Given the description of an element on the screen output the (x, y) to click on. 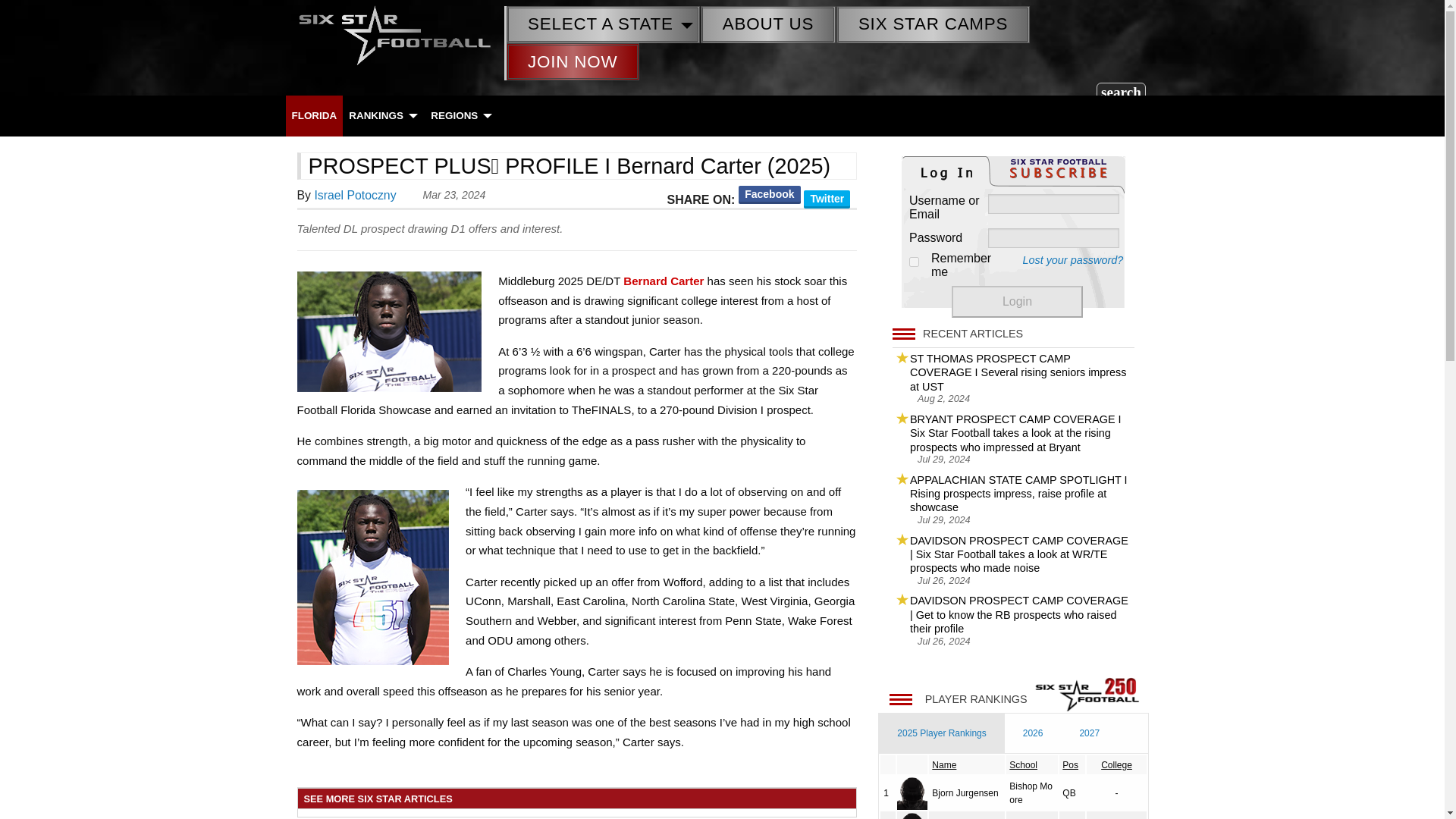
1 (913, 261)
Six Star Football - High School Football Prospects (395, 33)
ABOUT US (767, 24)
RANKINGS (382, 116)
Login (1017, 301)
SIX STAR CAMPS (932, 24)
FLORIDA (313, 116)
Join Now (572, 61)
SELECT A STATE (602, 24)
search (1120, 91)
